Given the description of an element on the screen output the (x, y) to click on. 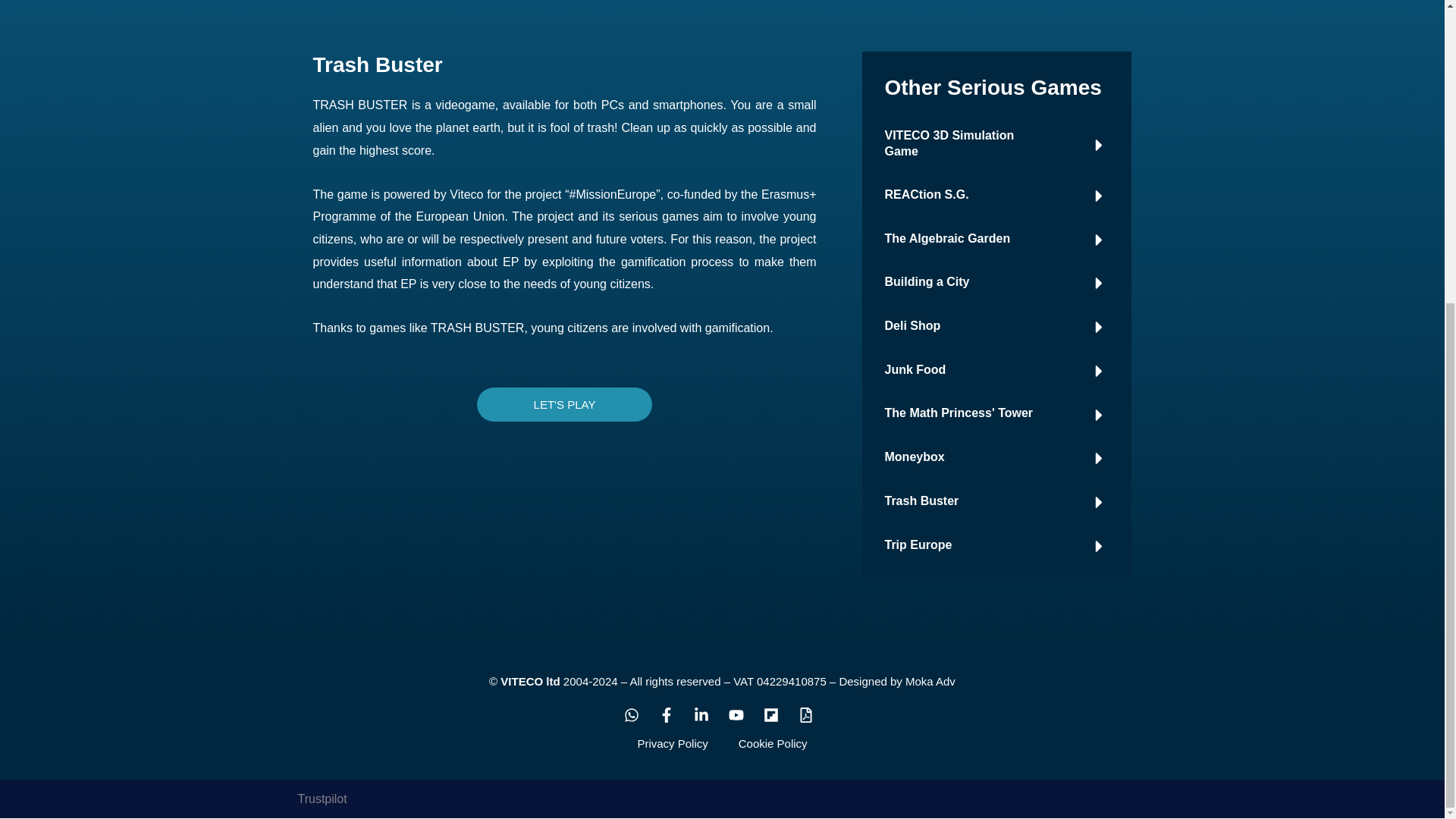
REACtion S.G. (925, 194)
LET'S PLAY (564, 404)
VITECO 3D Simulation Game (948, 143)
